Given the description of an element on the screen output the (x, y) to click on. 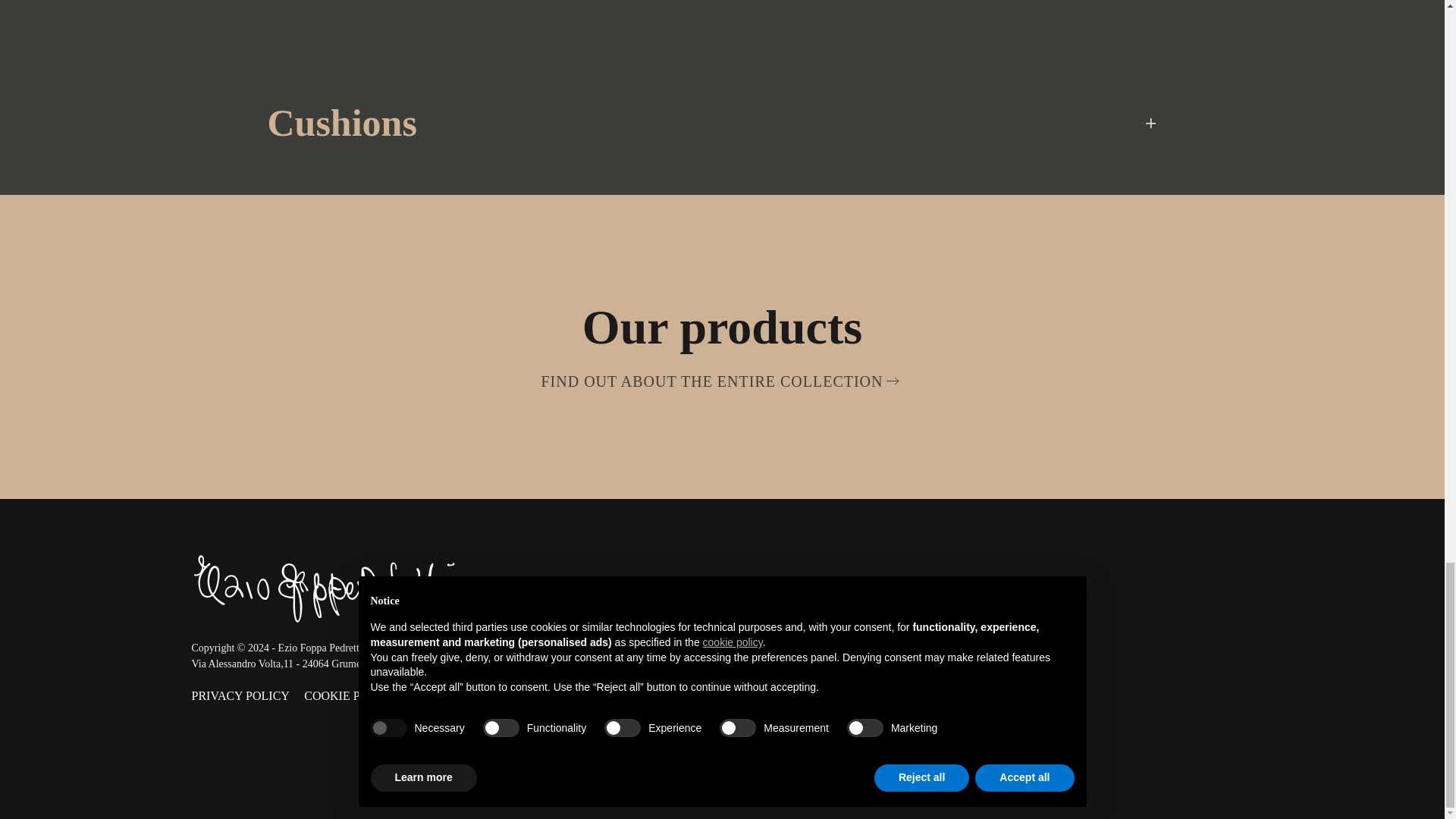
Contact (1025, 693)
FIND OUT ABOUT THE ENTIRE COLLECTION (722, 381)
Company (1031, 660)
Water-based varnish (721, 10)
Products (764, 693)
Cushions (721, 122)
COOKIE POLICY (350, 695)
Made in Italy (779, 660)
Cookie Policy  (350, 695)
Privacy Policy  (239, 695)
